Given the description of an element on the screen output the (x, y) to click on. 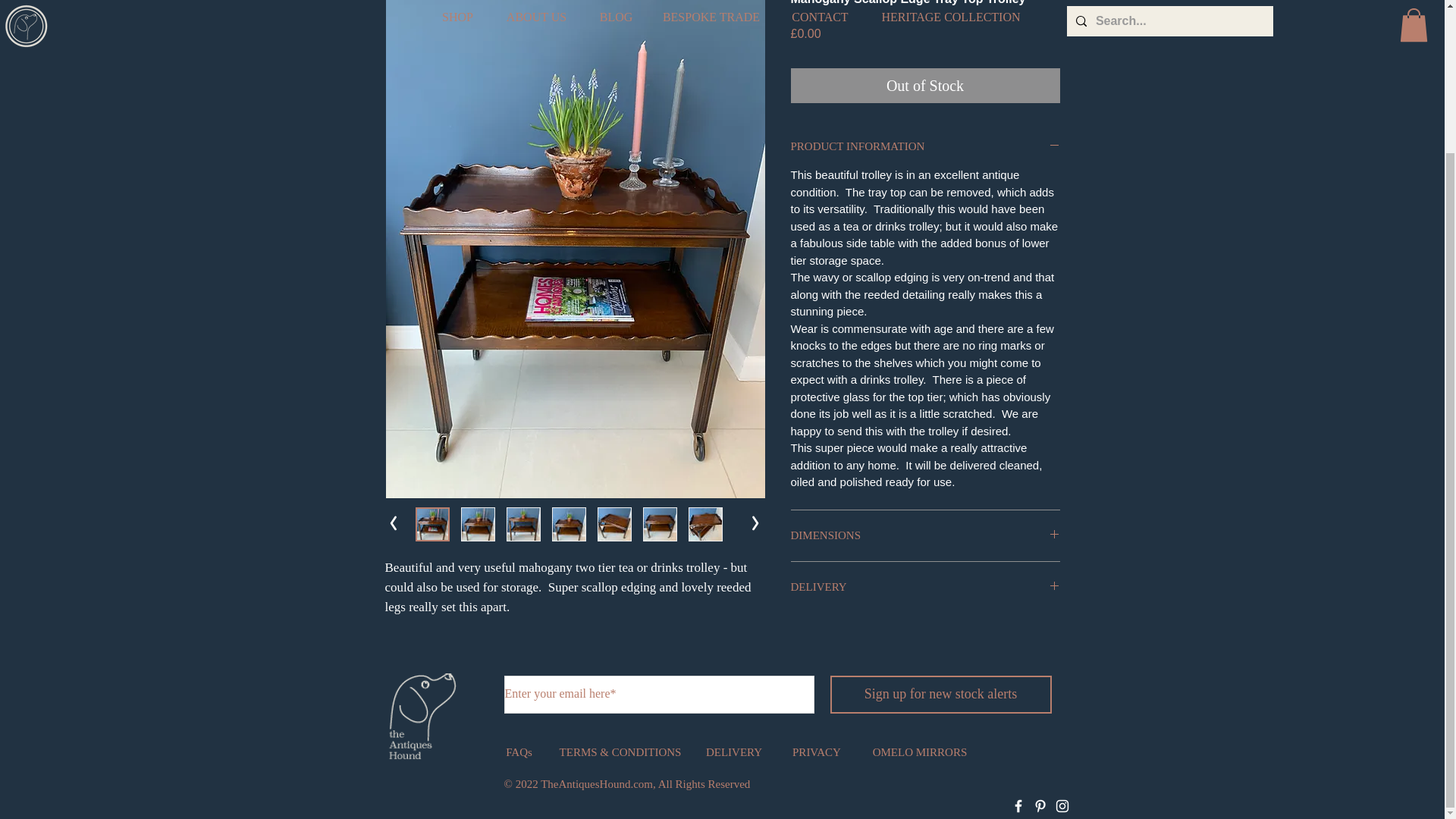
DIMENSIONS (924, 535)
PRODUCT INFORMATION (924, 146)
Out of Stock (924, 85)
